Given the description of an element on the screen output the (x, y) to click on. 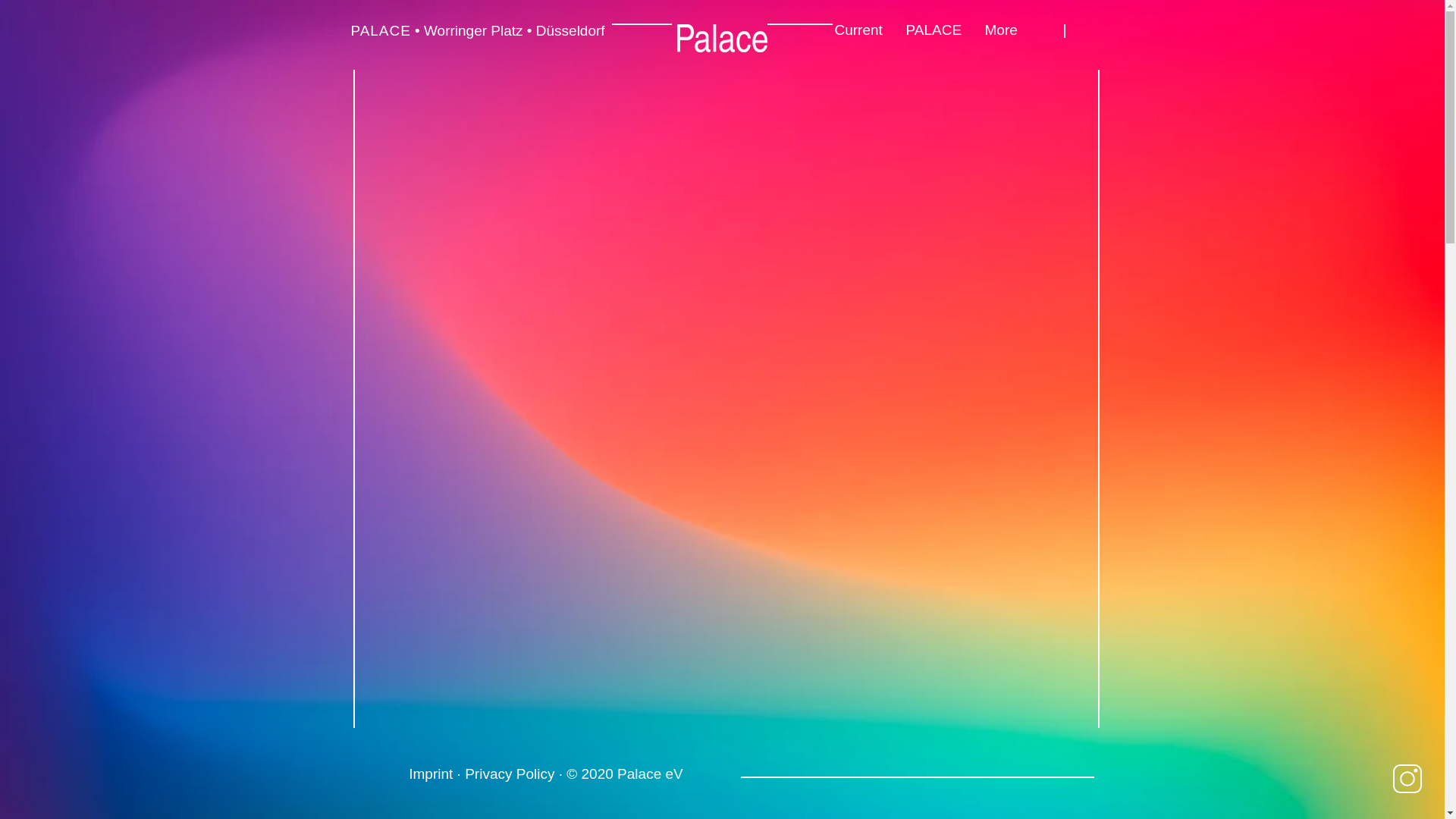
Privacy Policy (509, 773)
Imprint (430, 773)
Current (859, 29)
PALACE (934, 29)
